Given the description of an element on the screen output the (x, y) to click on. 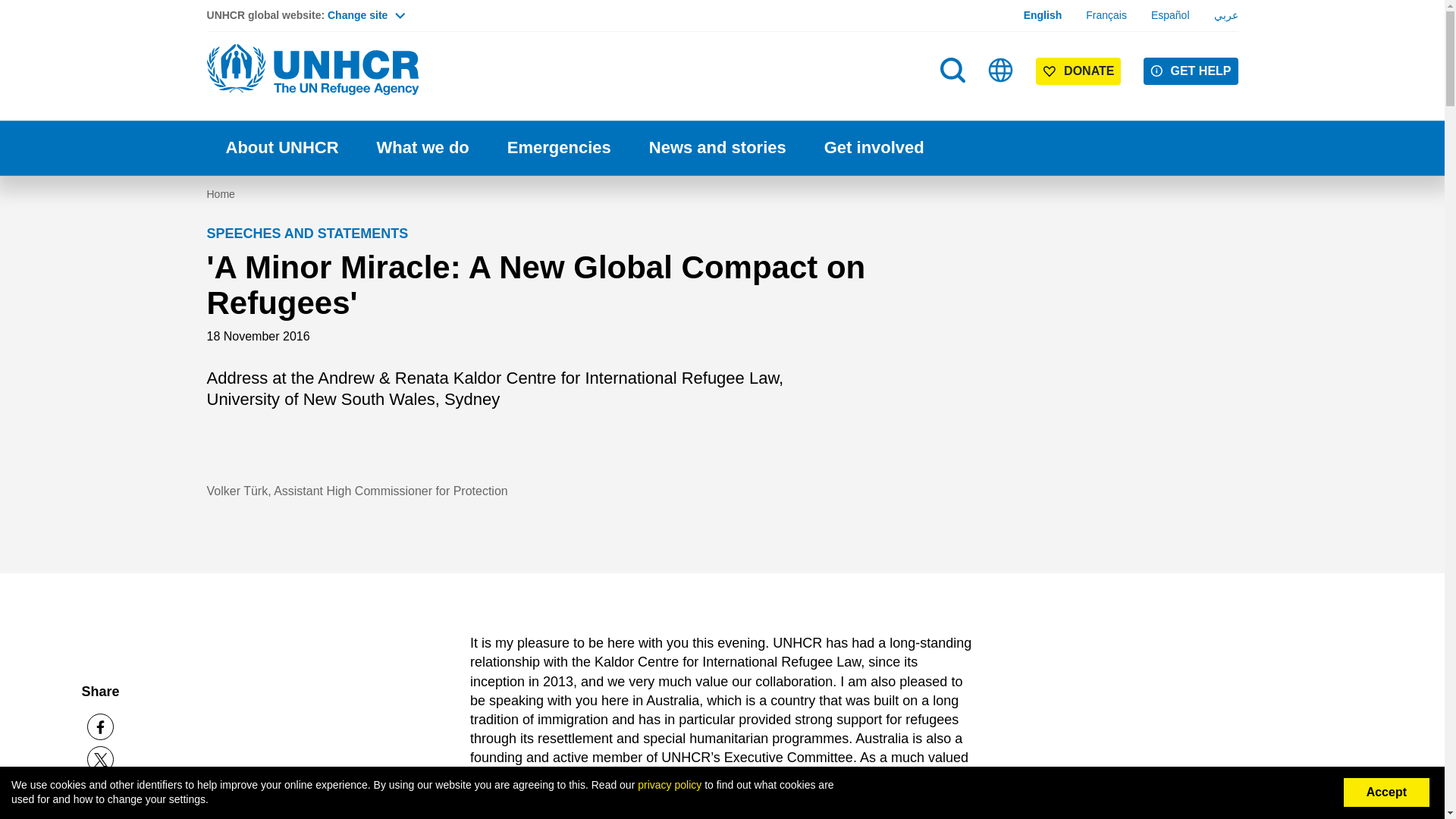
About UNHCR (281, 148)
GET HELP (1189, 71)
DONATE (1078, 71)
Search (952, 69)
Search (954, 99)
Skip to main content (721, 1)
English (1042, 15)
Sites (1000, 69)
Change site (365, 15)
Home (312, 69)
